Given the description of an element on the screen output the (x, y) to click on. 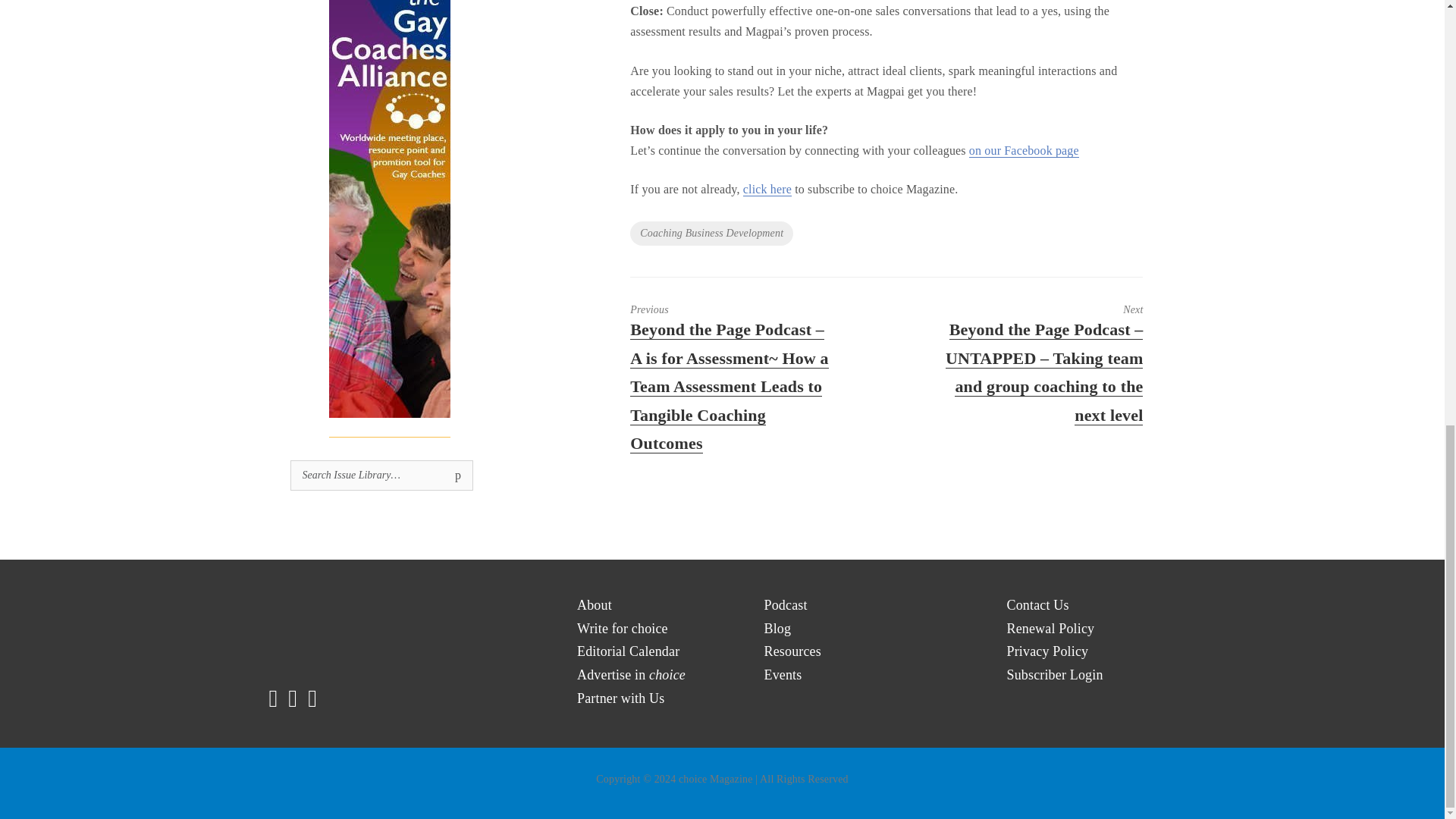
Advertise in choice (630, 675)
Coaching Business Development (711, 233)
Blog (778, 628)
Partner with Us (619, 698)
Podcast (786, 605)
Search for: (381, 475)
Editorial Calendar (627, 651)
Write for choice (622, 628)
About (593, 605)
on our Facebook page (1023, 151)
